Given the description of an element on the screen output the (x, y) to click on. 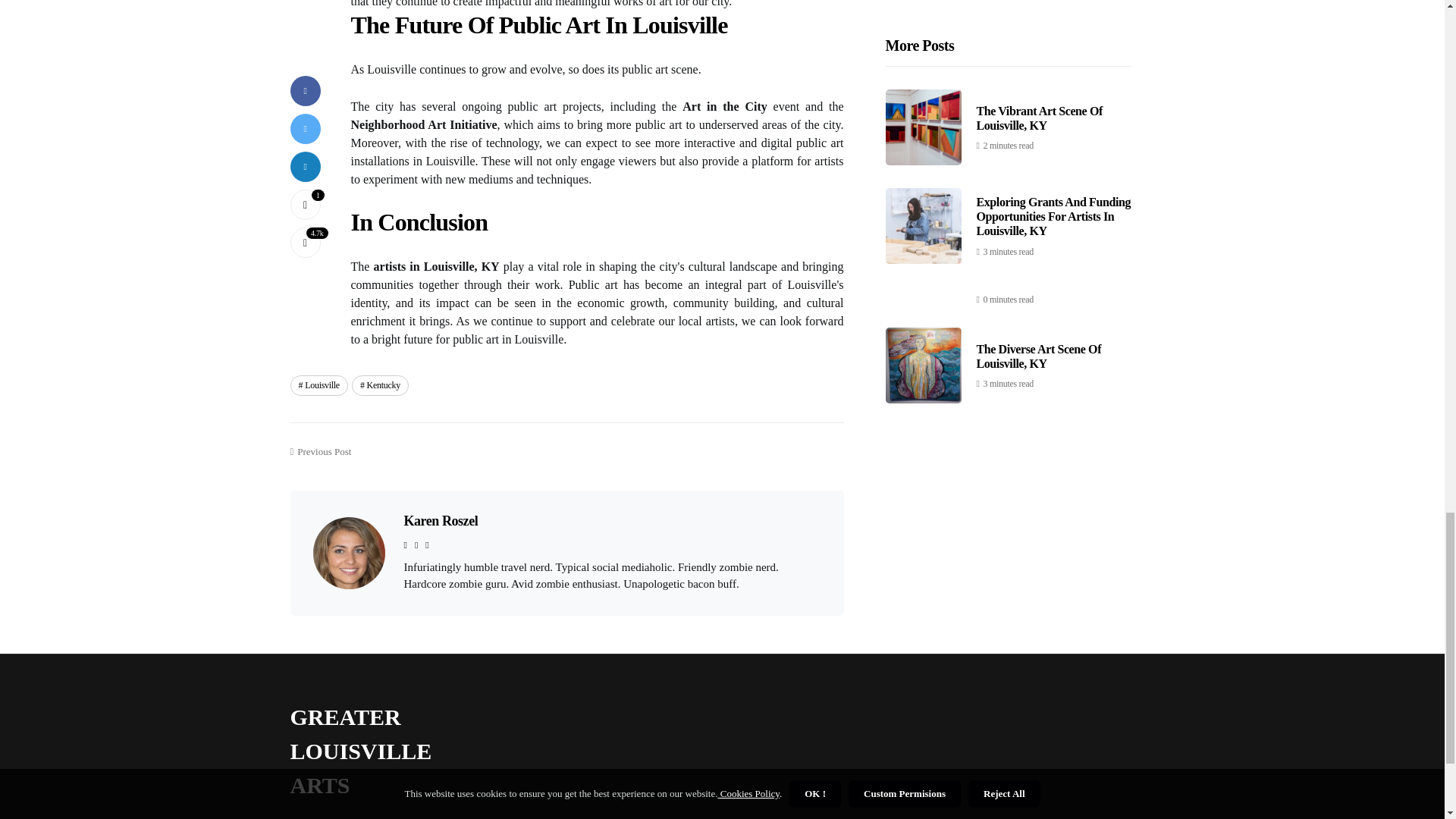
Kentucky (380, 384)
Louisville (318, 384)
Previous Post (319, 455)
Karen Roszel (440, 520)
